Given the description of an element on the screen output the (x, y) to click on. 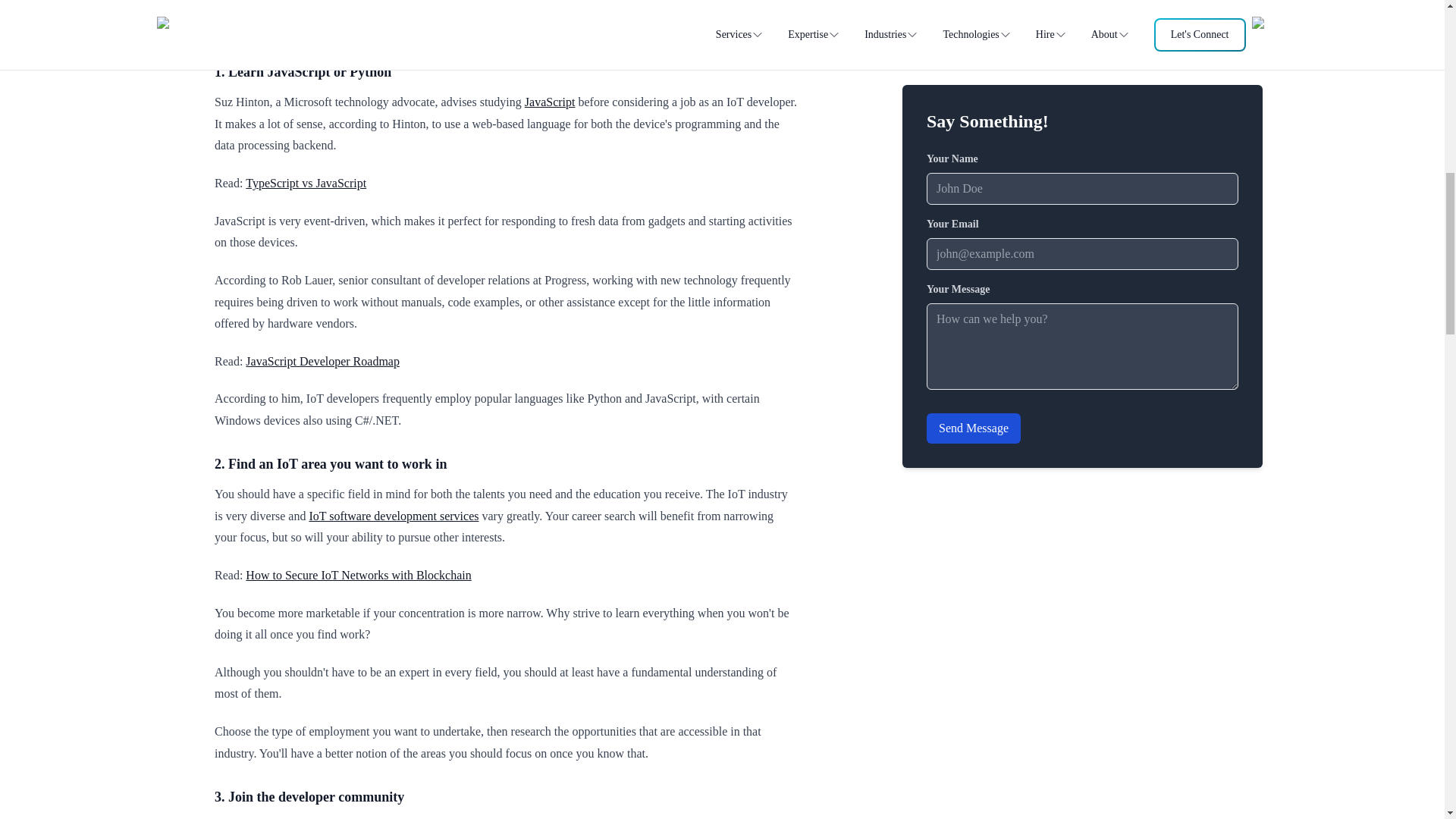
TypeScript vs JavaScript (306, 182)
JavaScript (549, 101)
JavaScript Developer Roadmap (322, 360)
How to Secure IoT Networks with Blockchain (358, 574)
IoT software development services (393, 515)
